Given the description of an element on the screen output the (x, y) to click on. 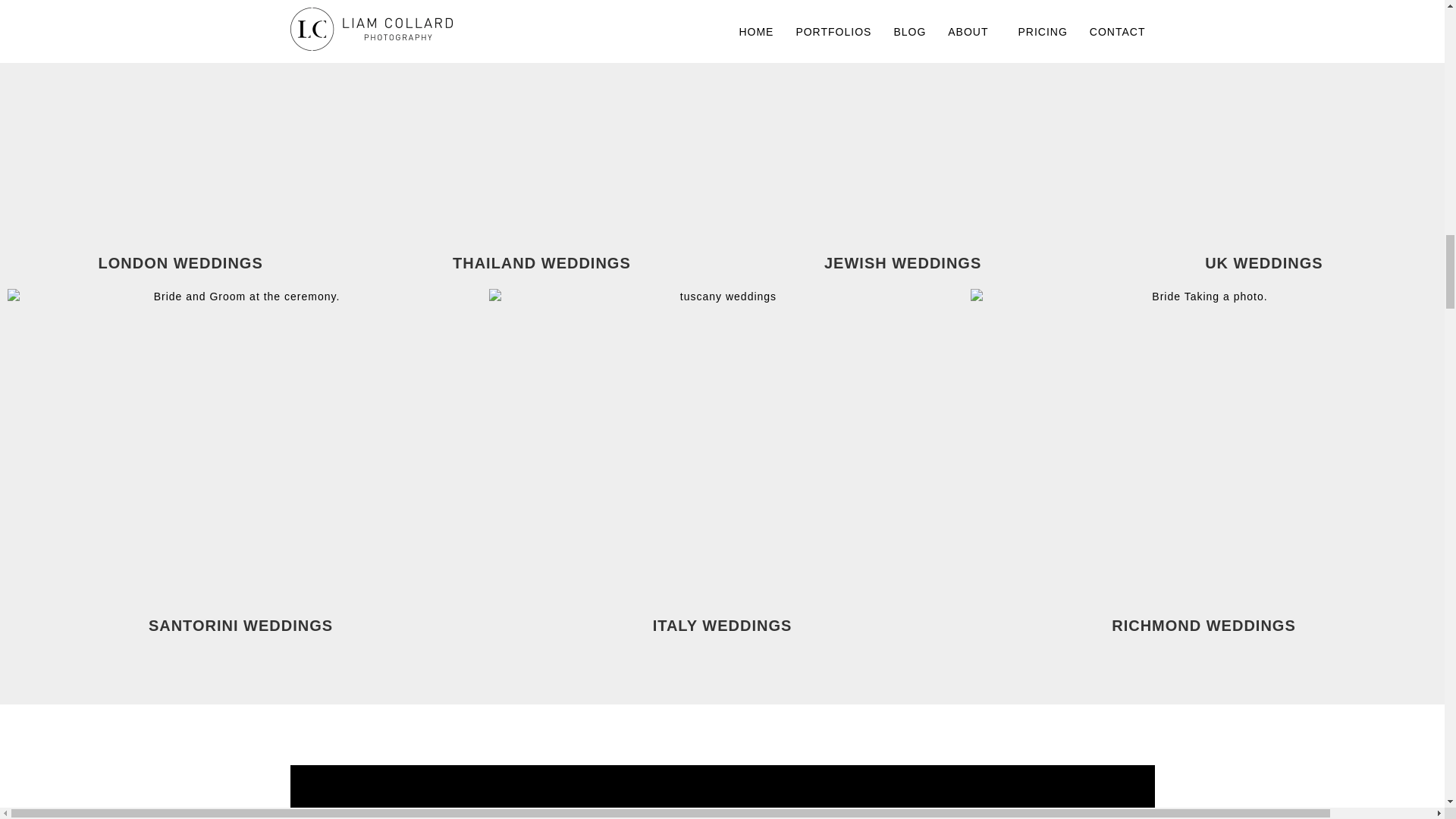
LONDON WEDDINGS (181, 262)
